Given the description of an element on the screen output the (x, y) to click on. 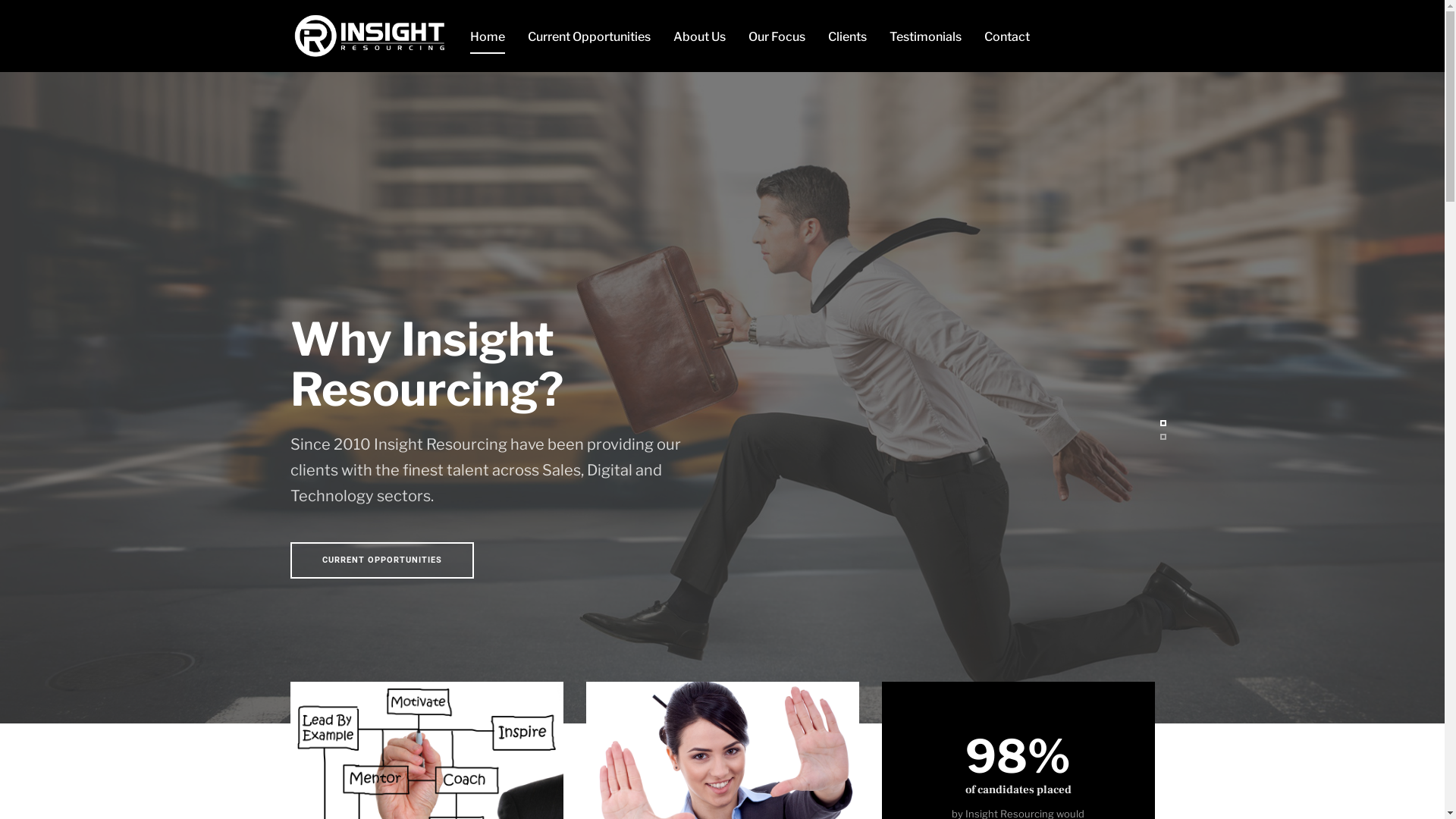
Clients Element type: text (847, 36)
CURRENT OPPORTUNITIES Element type: text (381, 560)
Contact Element type: text (1006, 36)
Home Element type: text (487, 36)
Testimonials Element type: text (925, 36)
Insight Resourcing Element type: hover (368, 36)
About Us Element type: text (699, 36)
Current Opportunities Element type: text (588, 36)
Our Focus Element type: text (776, 36)
